Given the description of an element on the screen output the (x, y) to click on. 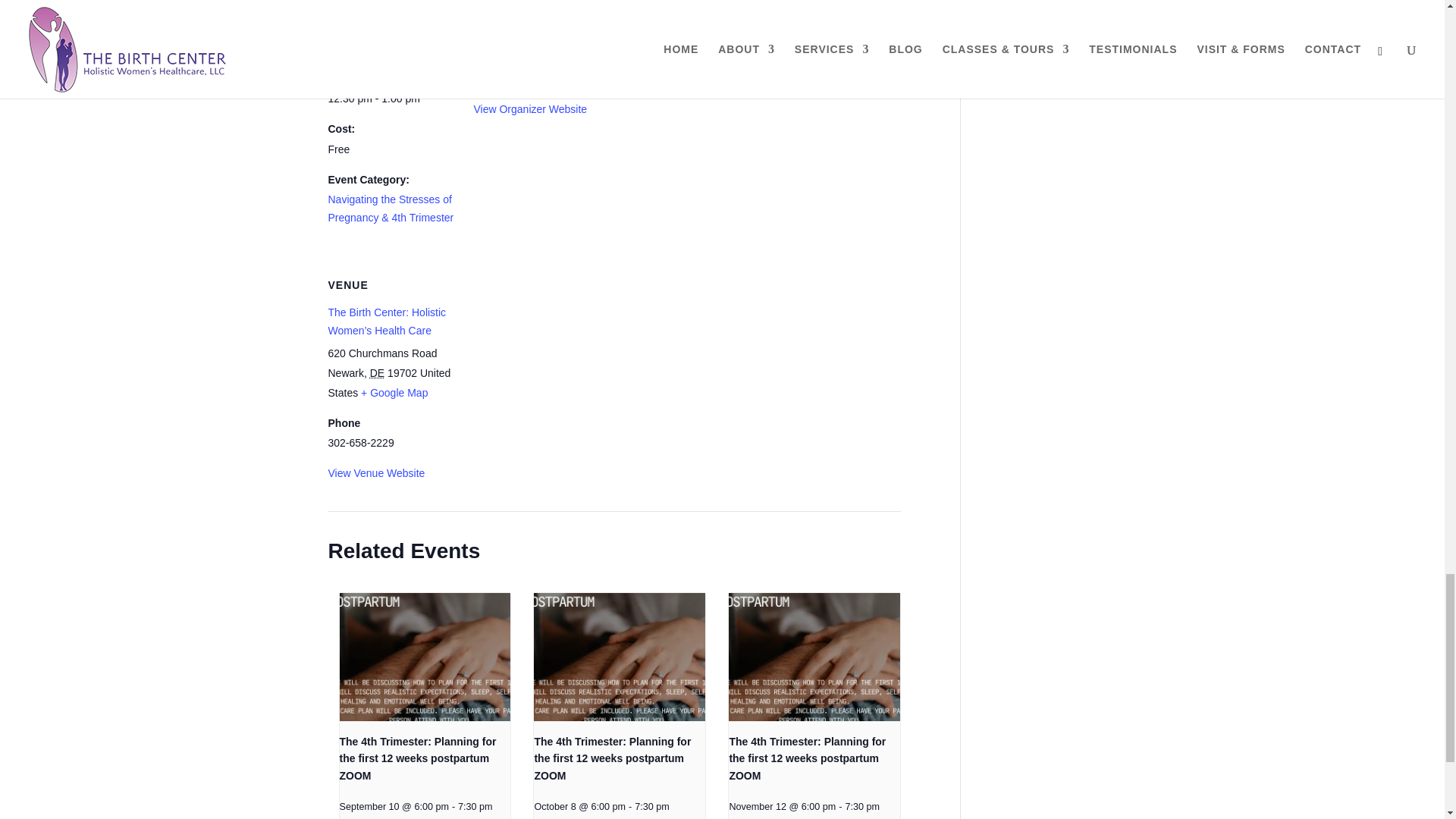
Delaware (376, 372)
Click to view a Google Map (394, 392)
View Venue Website (376, 472)
View Organizer Website (529, 109)
2020-10-26 (368, 48)
The Birth Center (512, 28)
2020-10-26 (390, 99)
The Birth Center (512, 28)
